Given the description of an element on the screen output the (x, y) to click on. 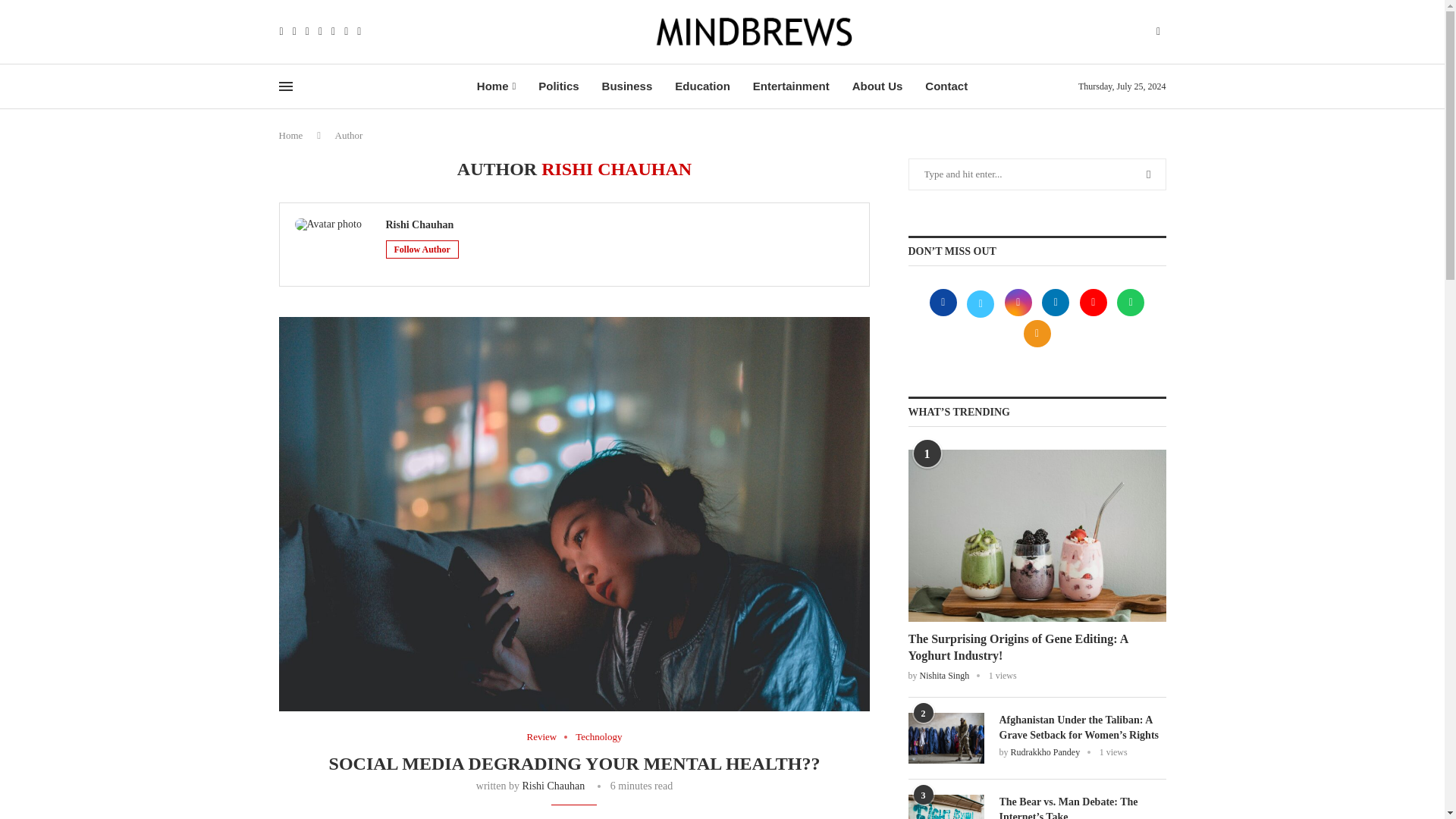
The Surprising Origins of Gene Editing: A Yoghurt Industry! (1037, 647)
The Surprising Origins of Gene Editing: A Yoghurt Industry! (1037, 535)
Politics (558, 86)
Rishi Chauhan (553, 785)
Posts by Rishi Chauhan (418, 225)
Education (702, 86)
Business (627, 86)
